Given the description of an element on the screen output the (x, y) to click on. 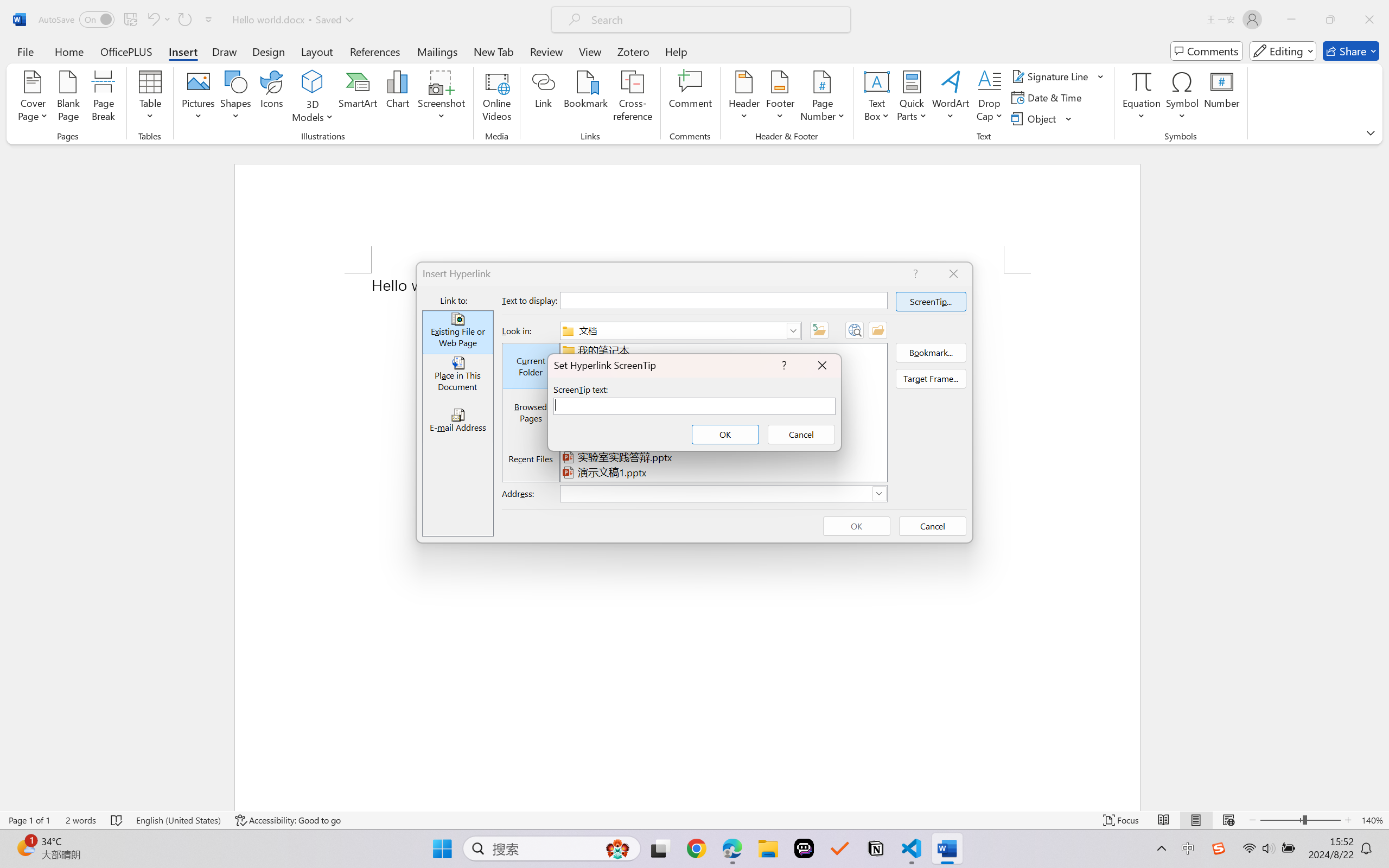
Comment (689, 97)
Layout (316, 51)
Ribbon Display Options (1370, 132)
Class: MsoCommandBar (694, 819)
Microsoft search (715, 19)
WordArt (950, 97)
Can't Undo (158, 19)
Chart... (396, 97)
Pictures (198, 97)
Place in This Document (457, 376)
